Given the description of an element on the screen output the (x, y) to click on. 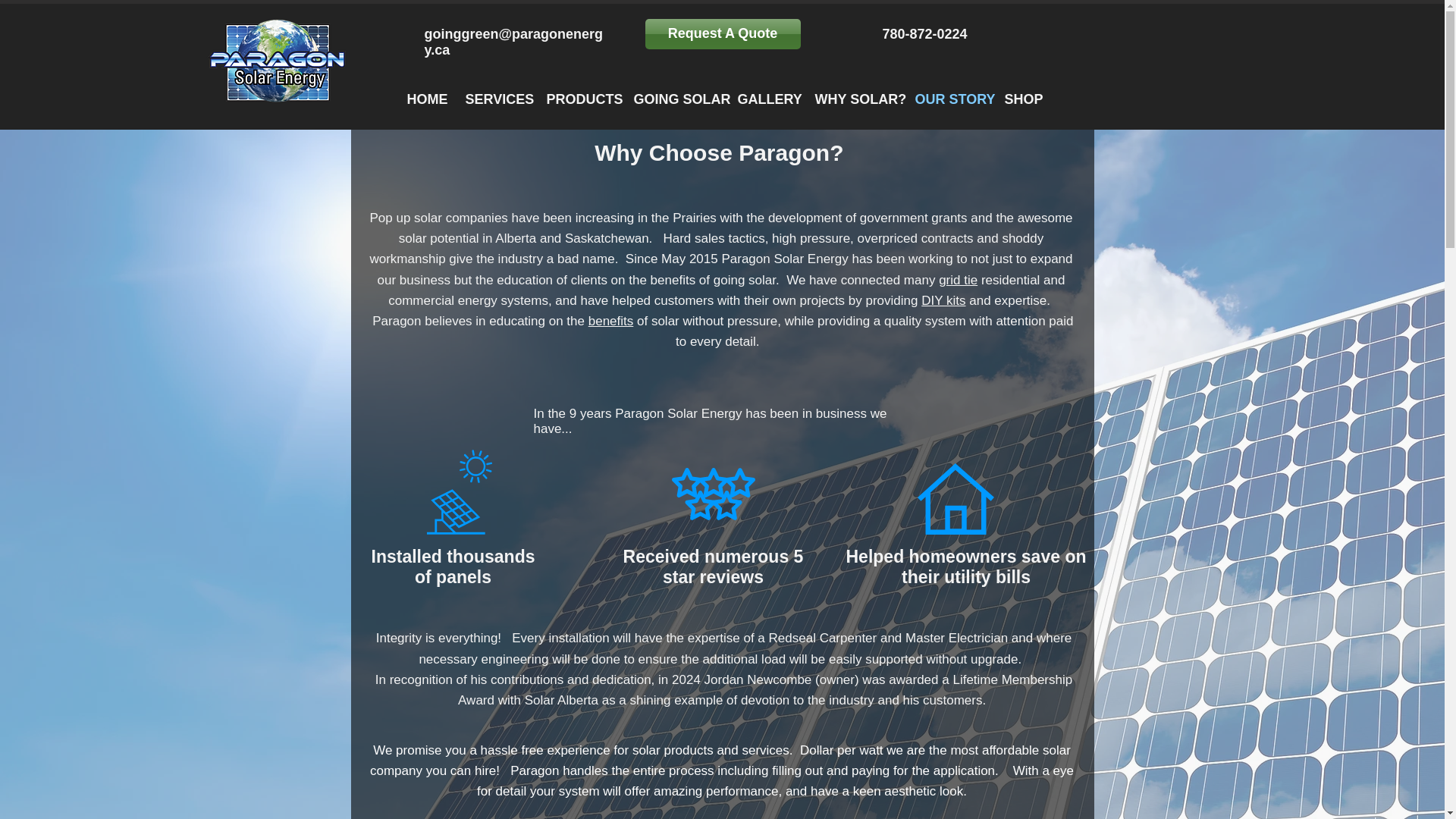
grid tie (957, 279)
PRODUCTS (580, 90)
DIY kits (943, 300)
Get A Free Estimate (713, 35)
GALLERY (766, 90)
HOME (425, 99)
OUR STORY (949, 90)
SERVICES (493, 99)
benefits (610, 320)
WHY SOLAR? (855, 90)
